Given the description of an element on the screen output the (x, y) to click on. 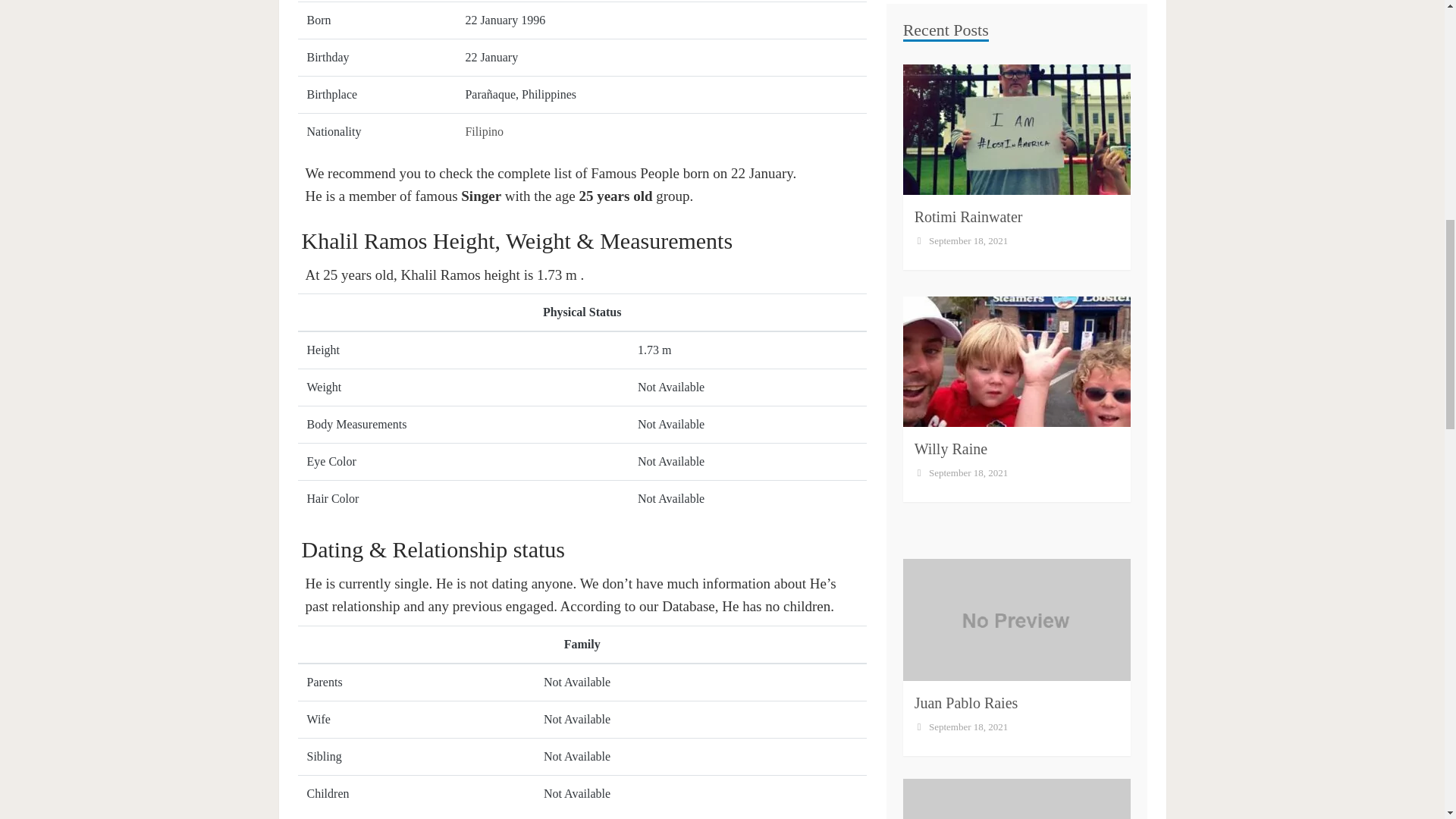
Gurmeet Kaur (957, 510)
Willy Raine (950, 36)
Bibhashwori Rai (965, 733)
Filipino (483, 131)
Juan Pablo Raies (965, 289)
